Given the description of an element on the screen output the (x, y) to click on. 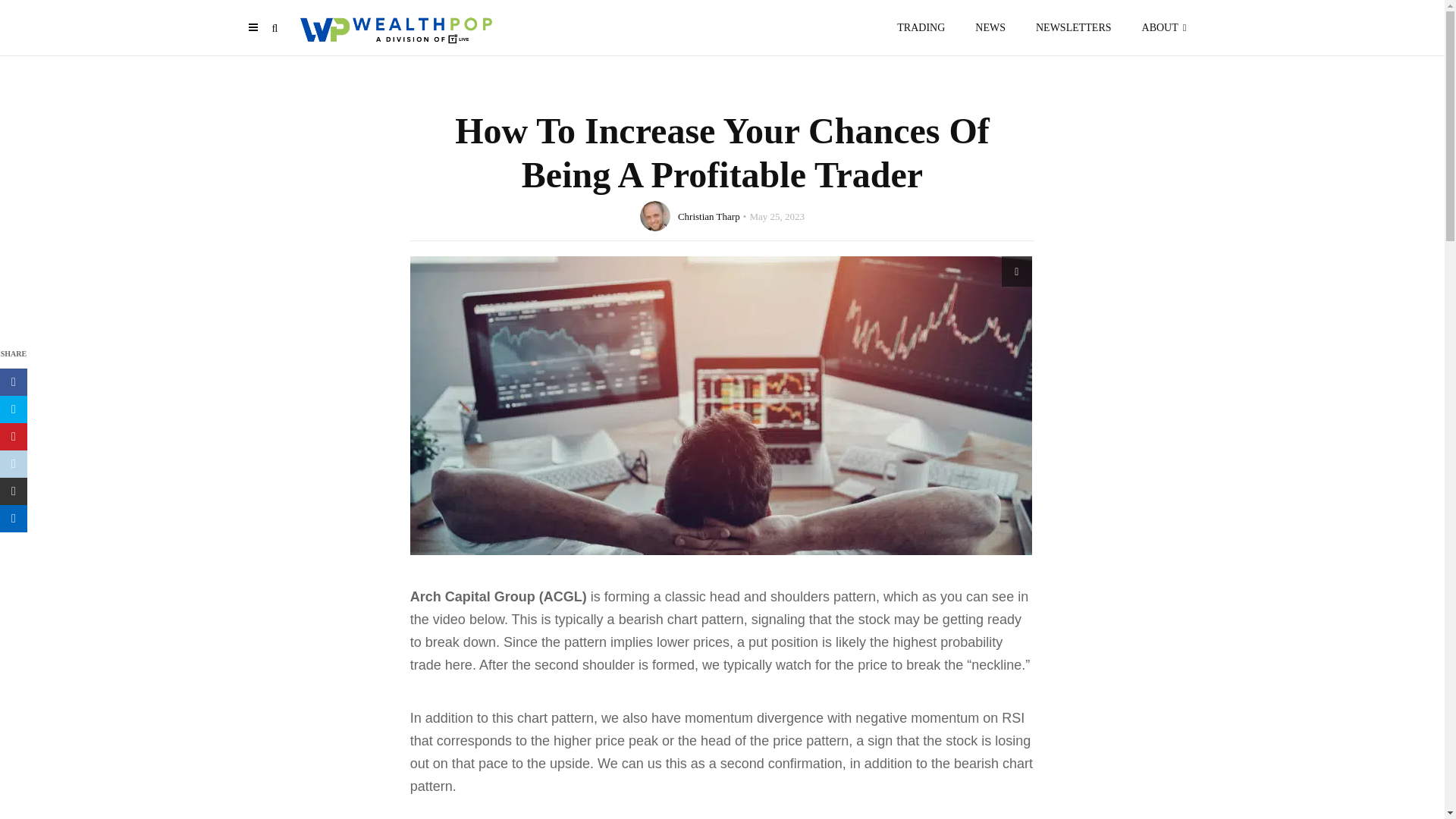
ABOUT (1167, 27)
NEWSLETTERS (1073, 27)
TRADING (920, 27)
Christian Tharp (708, 215)
NEWS (989, 27)
